Given the description of an element on the screen output the (x, y) to click on. 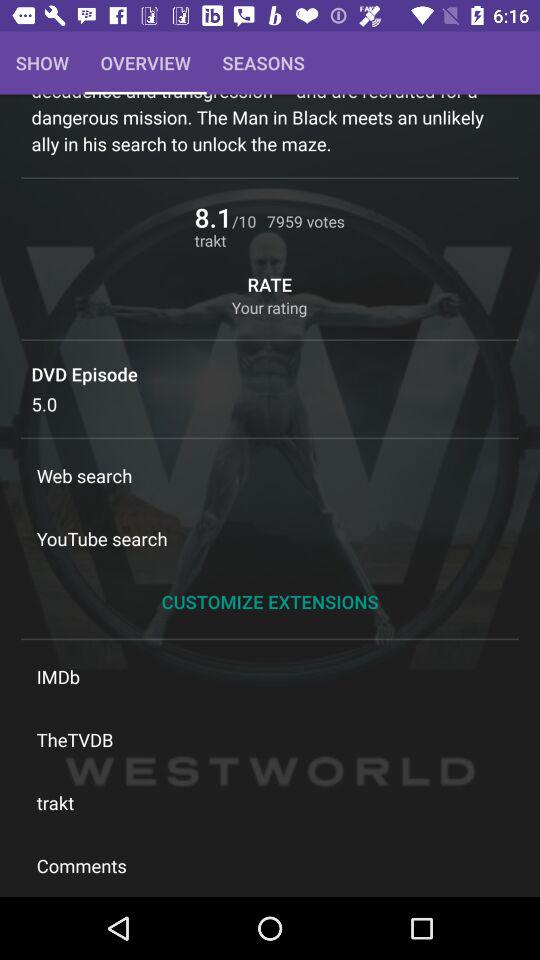
jump to web search (270, 475)
